Given the description of an element on the screen output the (x, y) to click on. 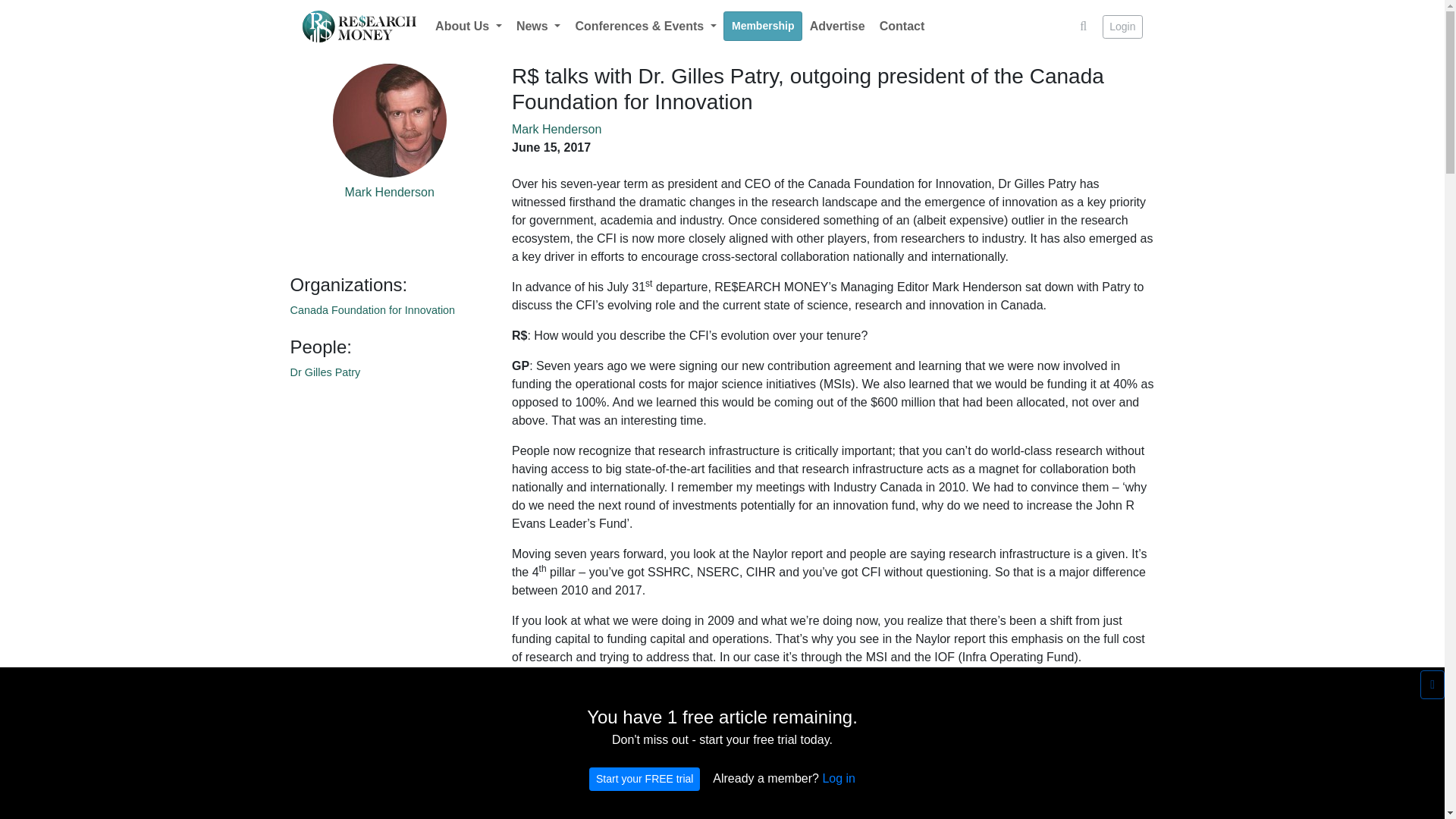
News (537, 26)
Advertise (837, 26)
Mark Henderson (389, 192)
Log in (839, 778)
Mark Henderson (556, 128)
Start your FREE trial (644, 779)
Dr Gilles Patry (324, 372)
Membership (762, 25)
Login (1121, 26)
About Us (468, 26)
Canada Foundation for Innovation (371, 309)
Contact (901, 26)
